Given the description of an element on the screen output the (x, y) to click on. 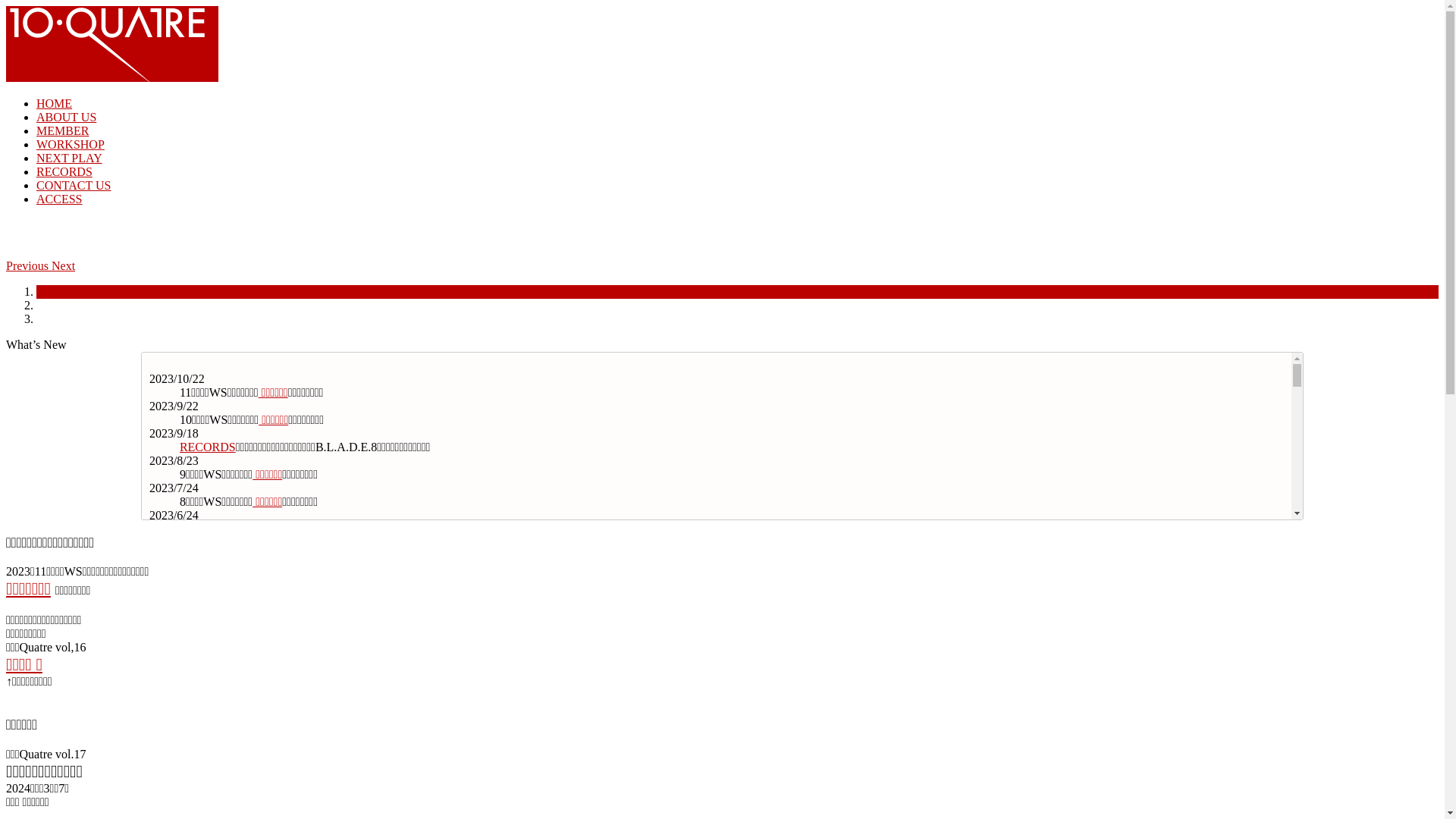
NEXT PLAY Element type: text (69, 157)
ABOUT US Element type: text (66, 116)
ACCESS Element type: text (58, 198)
NEXT PLAY Element type: text (253, 610)
MEMBER Element type: text (62, 130)
RECORDS Element type: text (207, 719)
RECORDS Element type: text (207, 446)
WORKSHOP Element type: text (70, 144)
HOME Element type: text (54, 103)
RECORDS Element type: text (207, 528)
Next Element type: text (63, 265)
CONTACT US Element type: text (73, 184)
NEXT PLAY Element type: text (253, 555)
RECORDS Element type: text (64, 171)
NEXT PLAY Element type: text (253, 774)
Previous Element type: text (28, 265)
